Given the description of an element on the screen output the (x, y) to click on. 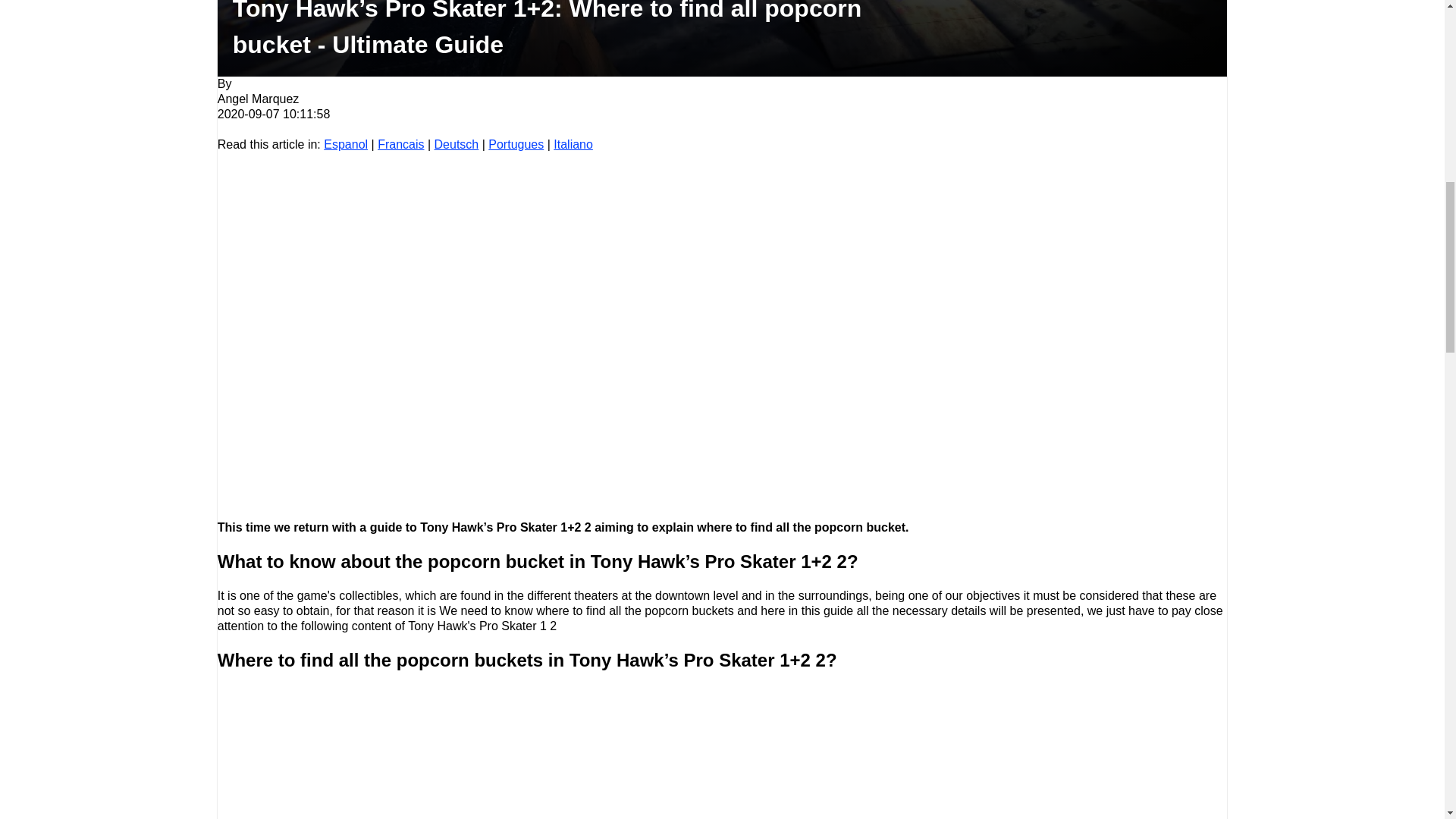
Portugues (515, 144)
Espanol (345, 144)
Francais (400, 144)
Deutsch (456, 144)
Italiano (572, 144)
